Given the description of an element on the screen output the (x, y) to click on. 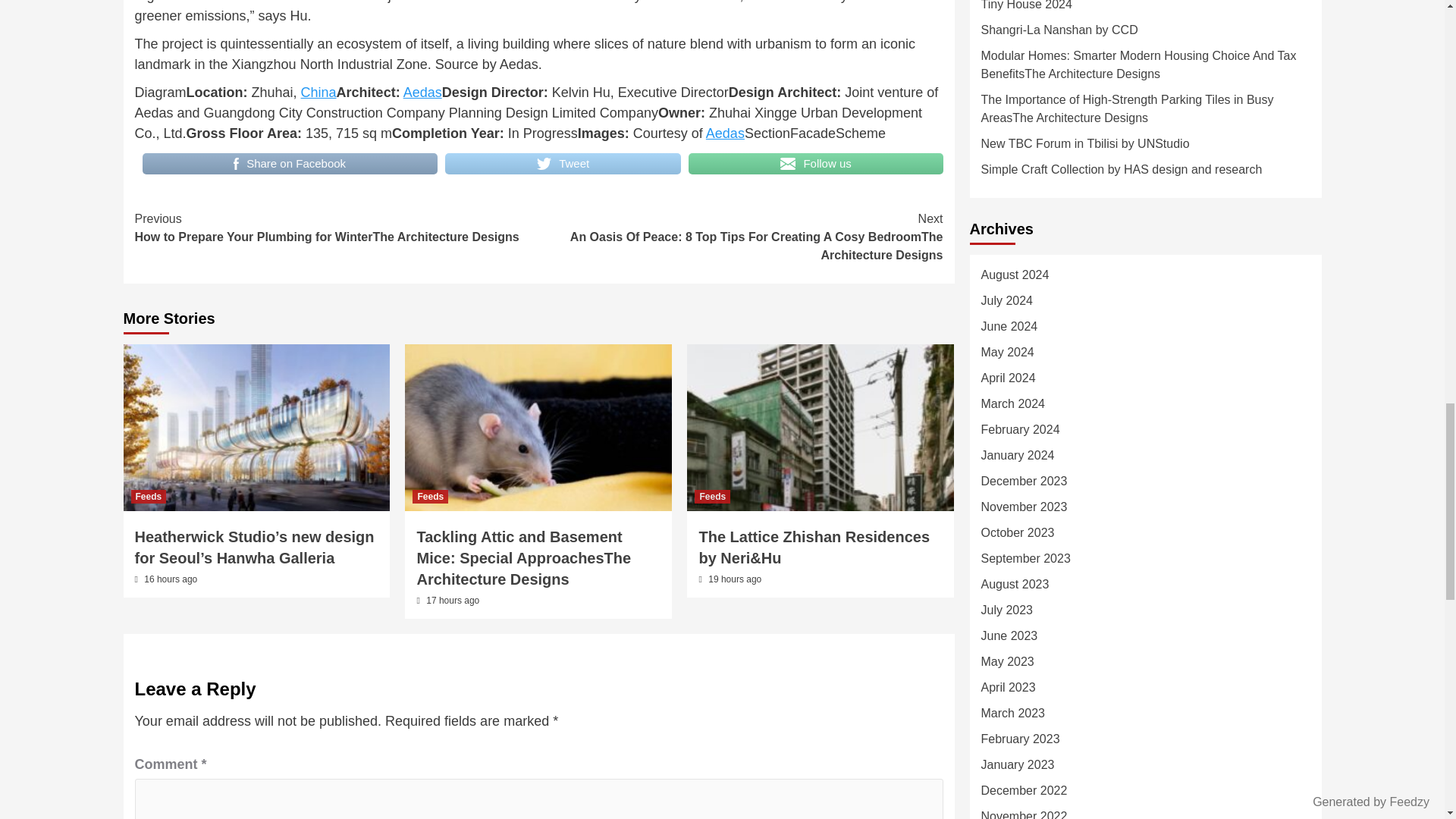
China (318, 92)
Tweet (563, 163)
Feeds (148, 496)
Follow us (815, 163)
16 hours ago (170, 579)
Feeds (430, 496)
Aedas (422, 92)
17 hours ago (452, 600)
